Given the description of an element on the screen output the (x, y) to click on. 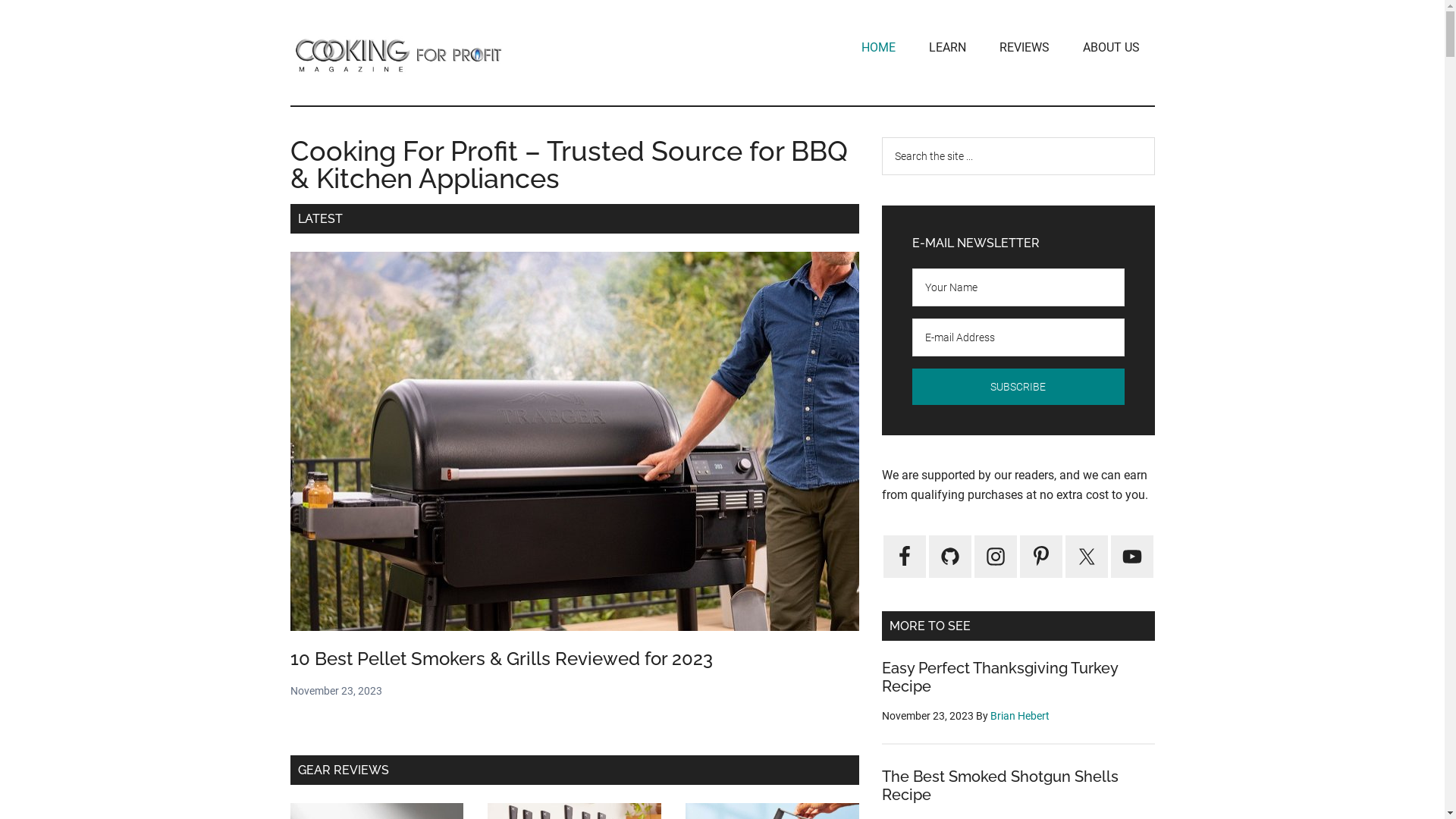
ABOUT US Element type: text (1110, 47)
REVIEWS Element type: text (1024, 47)
Brian Hebert Element type: text (1019, 715)
LEARN Element type: text (946, 47)
Subscribe Element type: text (1017, 386)
The Best Smoked Shotgun Shells Recipe Element type: text (999, 785)
HOME Element type: text (878, 47)
Easy Perfect Thanksgiving Turkey Recipe Element type: text (999, 676)
Skip to main content Element type: text (0, 0)
Search Element type: text (1154, 136)
10 Best Pellet Smokers & Grills Reviewed for 2023 Element type: text (500, 658)
